Given the description of an element on the screen output the (x, y) to click on. 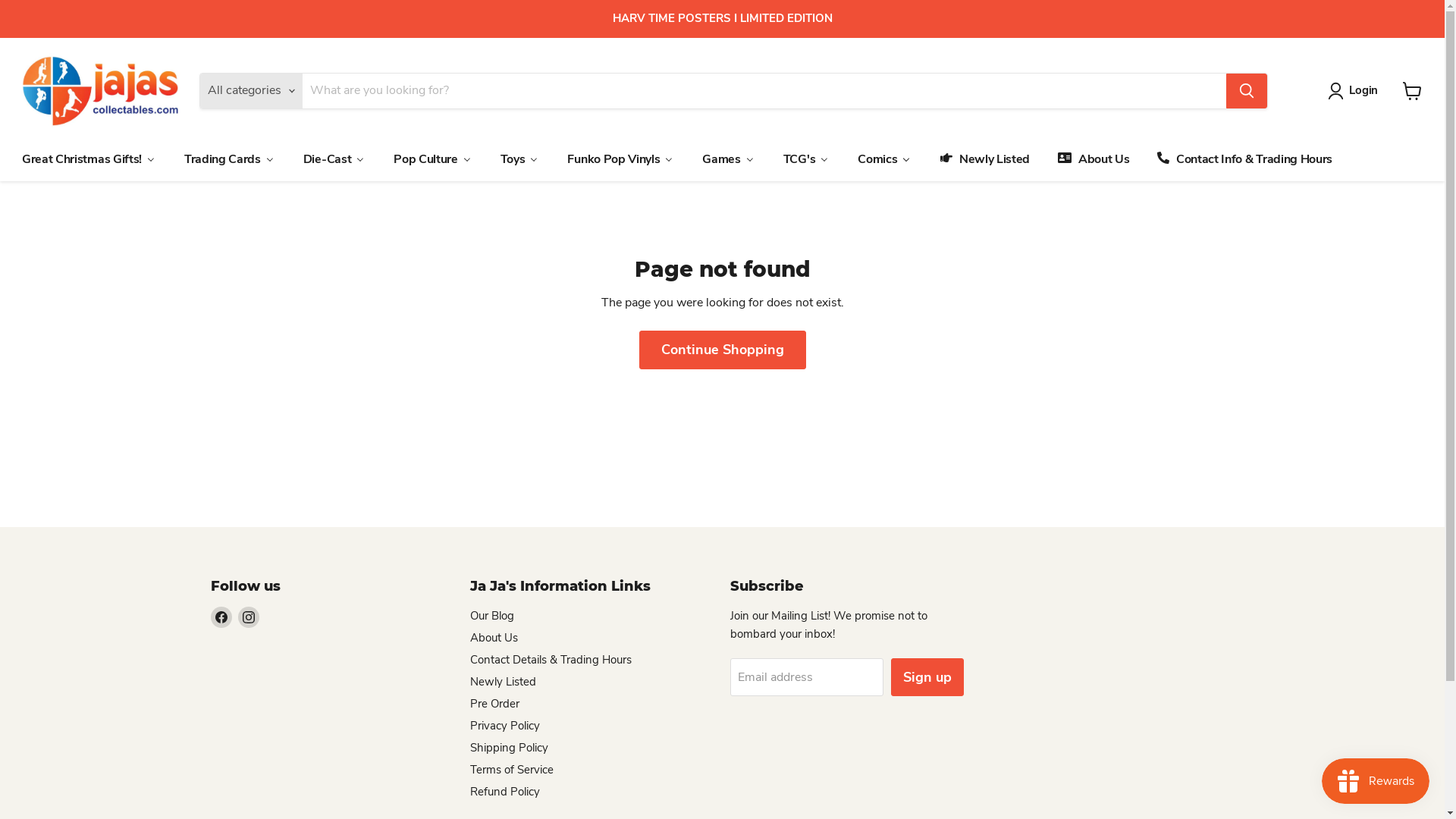
Comics Element type: text (884, 158)
About Us Element type: text (1092, 158)
Our Blog Element type: text (492, 615)
Continue Shopping Element type: text (721, 349)
Contact Details & Trading Hours Element type: text (550, 659)
Login Element type: text (1355, 90)
View cart Element type: text (1412, 90)
Newly Listed Element type: text (503, 681)
Great Christmas Gifts! Element type: text (88, 158)
Shipping Policy Element type: text (509, 747)
Find us on Instagram Element type: text (248, 616)
Sign up Element type: text (926, 677)
Funko Pop Vinyls Element type: text (619, 158)
Pre Order Element type: text (494, 703)
Find us on Facebook Element type: text (221, 616)
Newly Listed Element type: text (983, 158)
Trading Cards Element type: text (228, 158)
Privacy Policy Element type: text (504, 725)
Smile.io Rewards Program Launcher Element type: hover (1375, 780)
TCG's Element type: text (805, 158)
Pop Culture Element type: text (432, 158)
Refund Policy Element type: text (504, 791)
About Us Element type: text (493, 637)
Games Element type: text (727, 158)
Contact Info & Trading Hours Element type: text (1243, 158)
Die-Cast Element type: text (333, 158)
Toys Element type: text (519, 158)
Terms of Service Element type: text (511, 769)
